Given the description of an element on the screen output the (x, y) to click on. 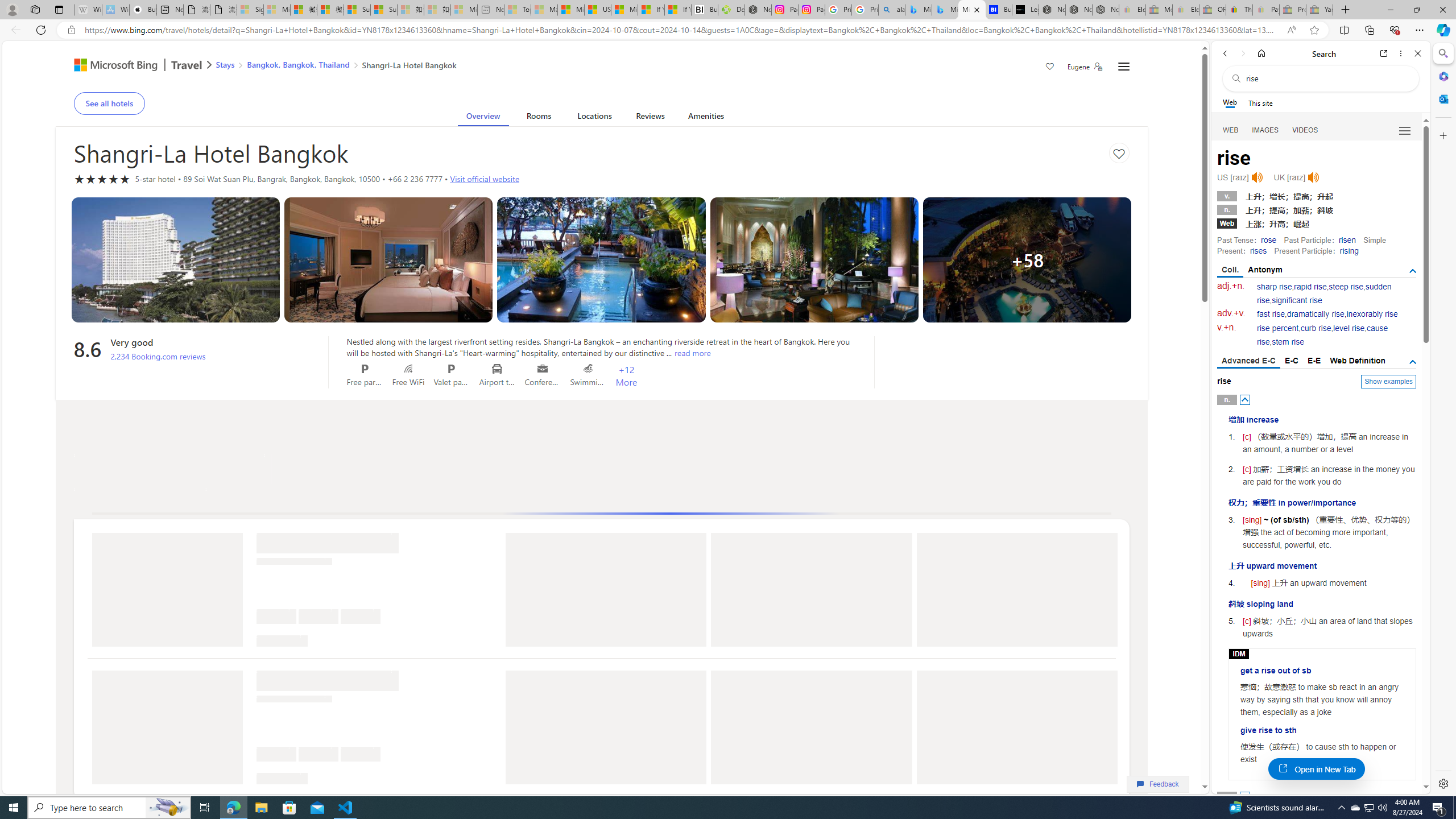
Class: msft-bing-logo msft-bing-logo-desktop (112, 64)
risen (1347, 239)
fast rise (1270, 313)
Advanced E-C (1248, 361)
Class: trvl-hub-header (601, 65)
Threats and offensive language policy | eBay (1239, 9)
Stays (224, 64)
Microsoft Services Agreement - Sleeping (277, 9)
